Given the description of an element on the screen output the (x, y) to click on. 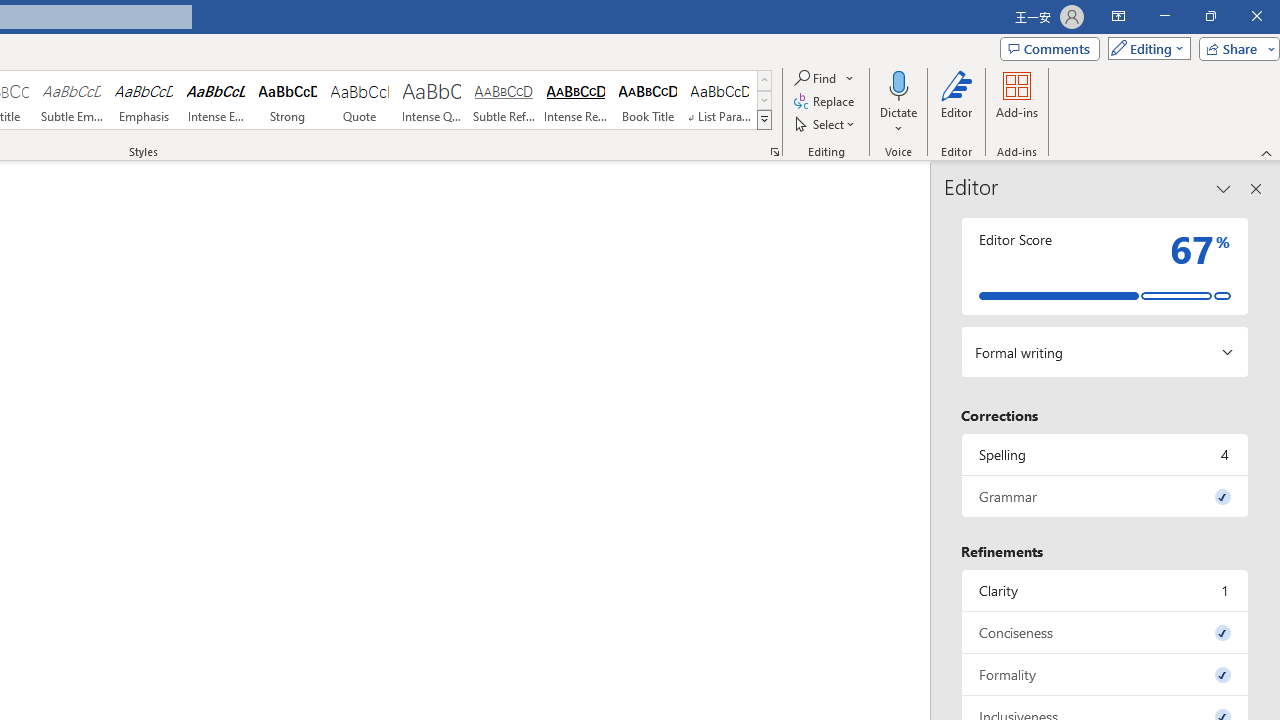
Book Title (647, 100)
Subtle Emphasis (71, 100)
Spelling, 4 issues. Press space or enter to review items. (1105, 454)
Strong (287, 100)
Formality, 0 issues. Press space or enter to review items. (1105, 673)
Editing (1144, 47)
Clarity, 1 issue. Press space or enter to review items. (1105, 590)
Intense Quote (431, 100)
Intense Reference (575, 100)
